Given the description of an element on the screen output the (x, y) to click on. 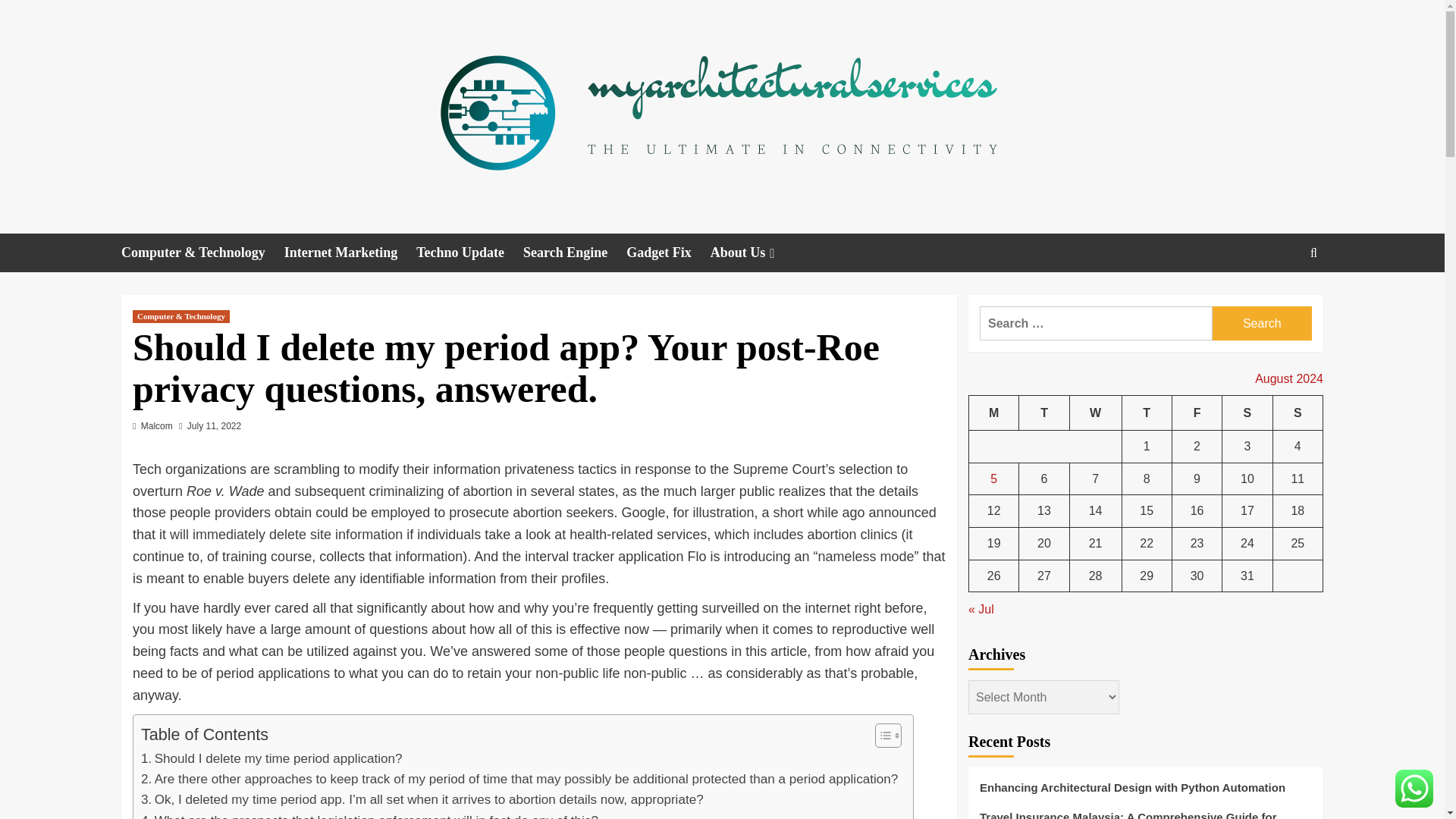
Wednesday (1094, 412)
Search Engine (574, 252)
Should I delete my time period application? (272, 758)
Techno Update (469, 252)
Search (1278, 298)
Monday (994, 412)
will immediately delete site information (286, 534)
Search (1261, 323)
Search (1261, 323)
Tuesday (1043, 412)
Malcom (157, 425)
Should I delete my time period application? (272, 758)
